Given the description of an element on the screen output the (x, y) to click on. 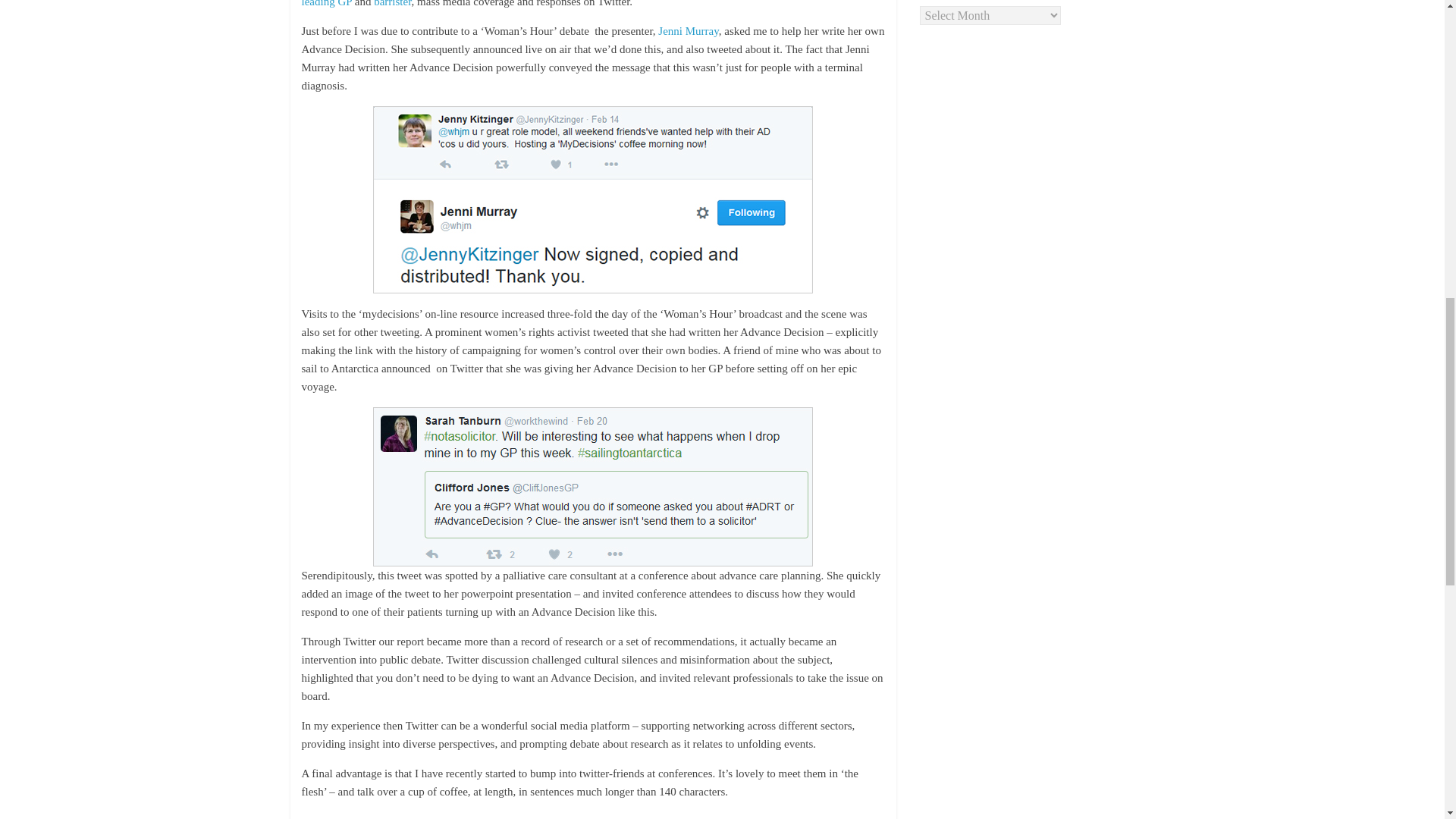
Jenni Murray (687, 30)
barrister (392, 3)
leading GP (326, 3)
